Given the description of an element on the screen output the (x, y) to click on. 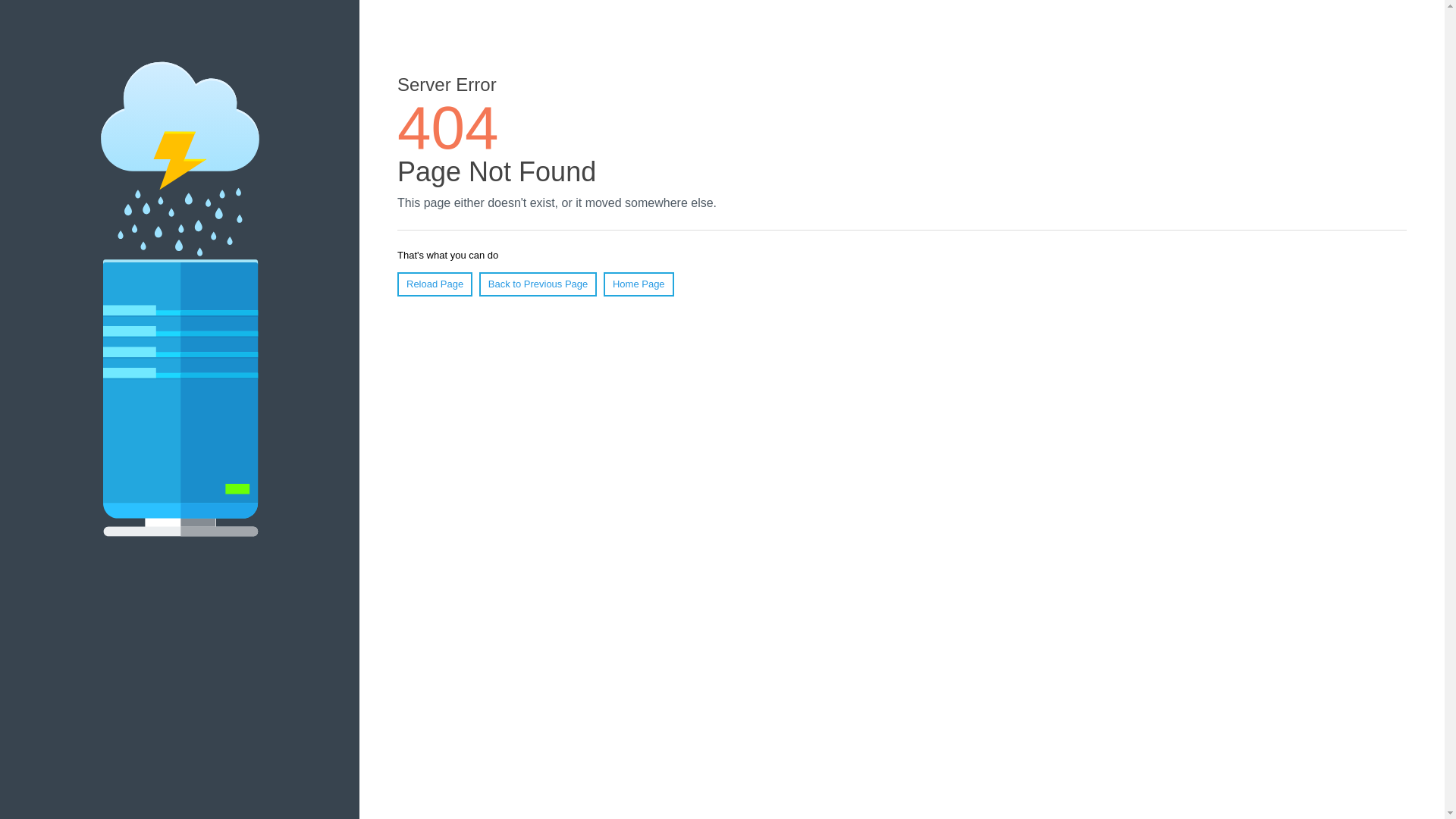
Back to Previous Page Element type: text (538, 284)
Home Page Element type: text (638, 284)
Reload Page Element type: text (434, 284)
